Given the description of an element on the screen output the (x, y) to click on. 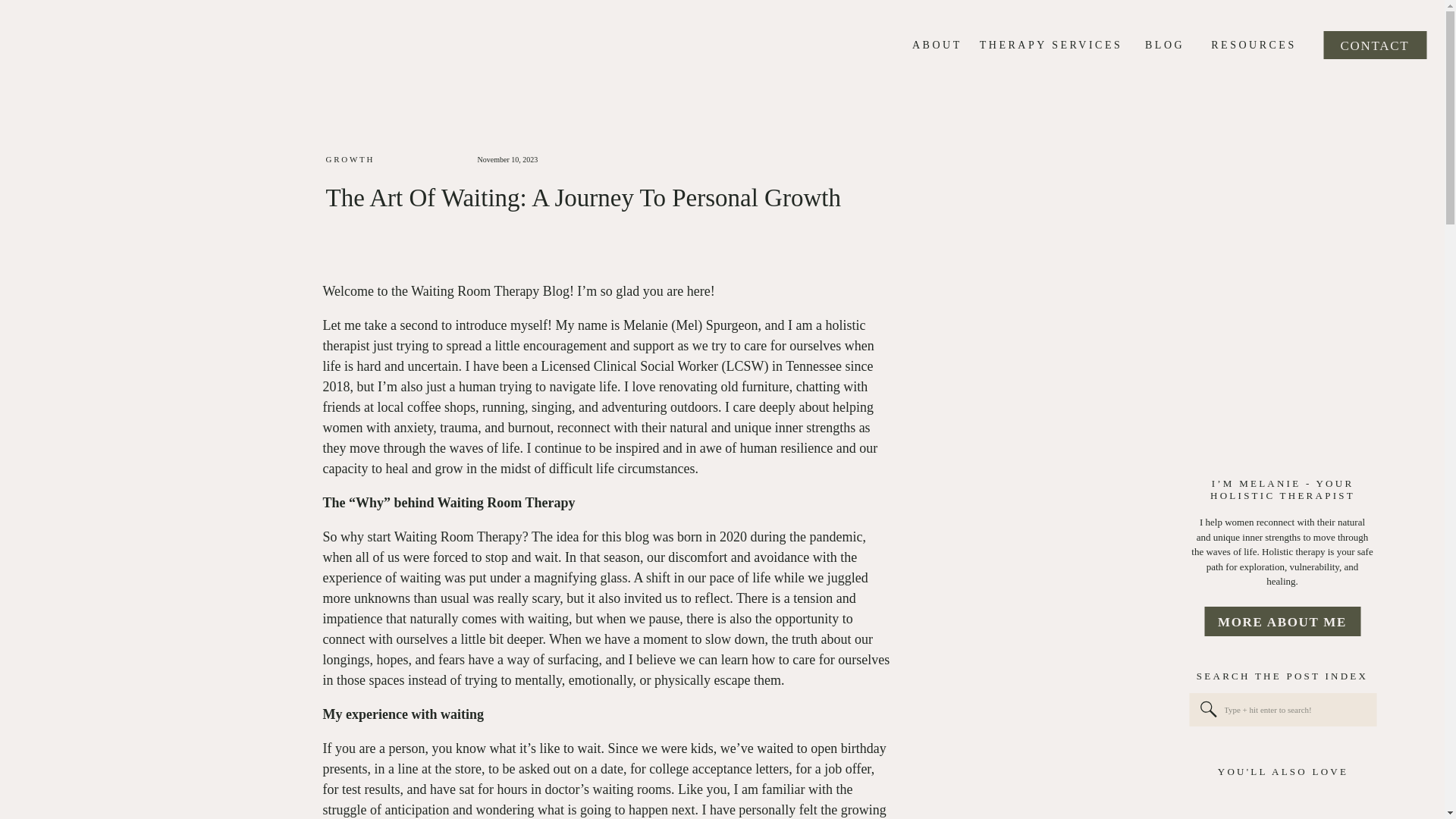
CONTACT (1374, 44)
ABOUT (934, 45)
RESOURCES (1253, 45)
MORE ABOUT ME (1281, 621)
GROWTH (350, 158)
BLOG (1164, 45)
THERAPY SERVICES (1050, 45)
